Given the description of an element on the screen output the (x, y) to click on. 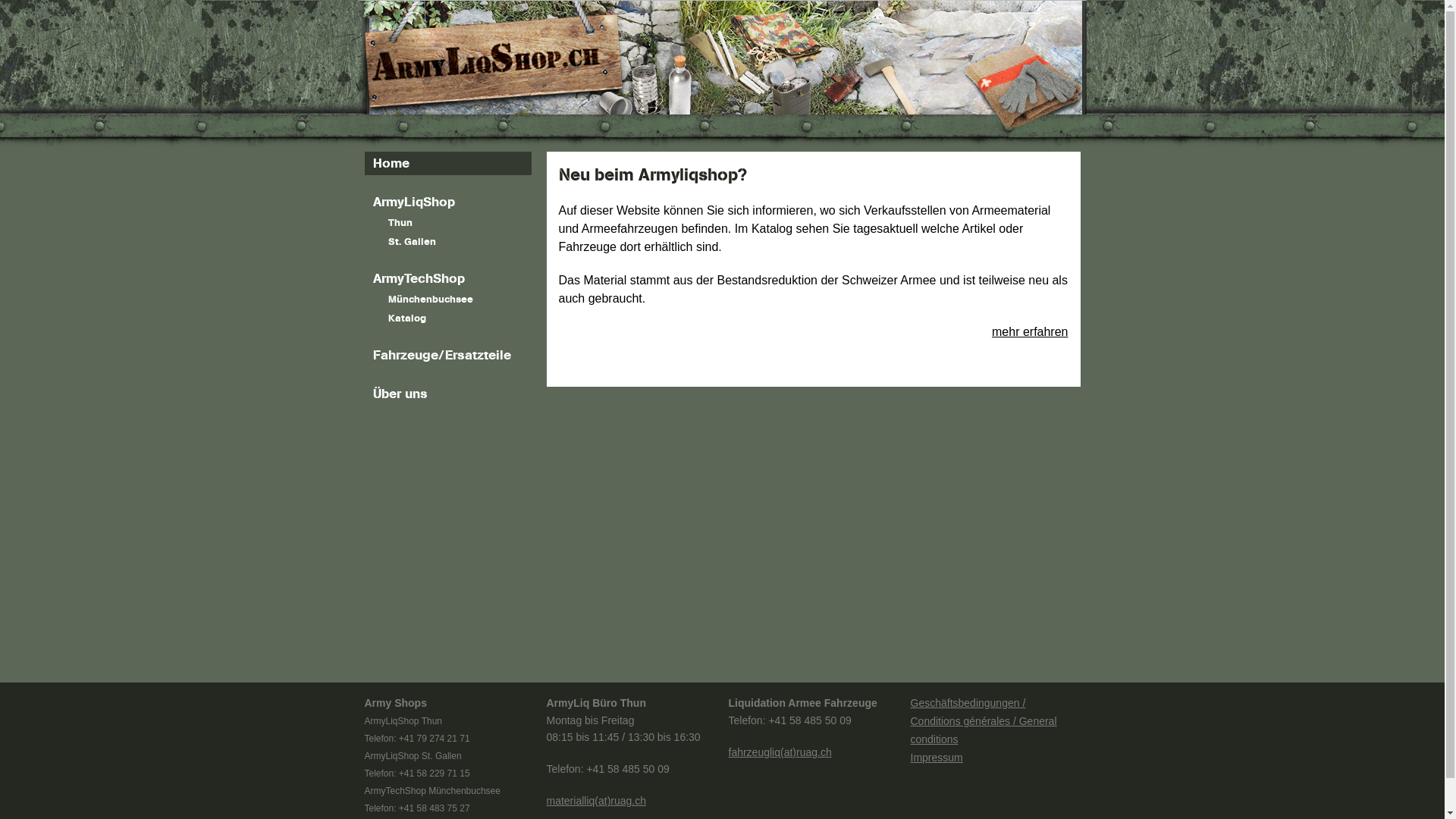
materialliq(at)ruag.ch Element type: text (596, 800)
Thun Element type: text (447, 222)
Fahrzeuge/Ersatzteile Element type: text (447, 355)
ArmyLiqShop Element type: text (447, 201)
Katalog Element type: text (447, 318)
ArmyTechShop Element type: text (447, 278)
Impressum Element type: text (936, 757)
fahrzeugliq(at)ruag.ch Element type: text (779, 752)
Home Element type: text (447, 163)
mehr erfahren Element type: text (1029, 332)
St. Gallen Element type: text (447, 241)
